Given the description of an element on the screen output the (x, y) to click on. 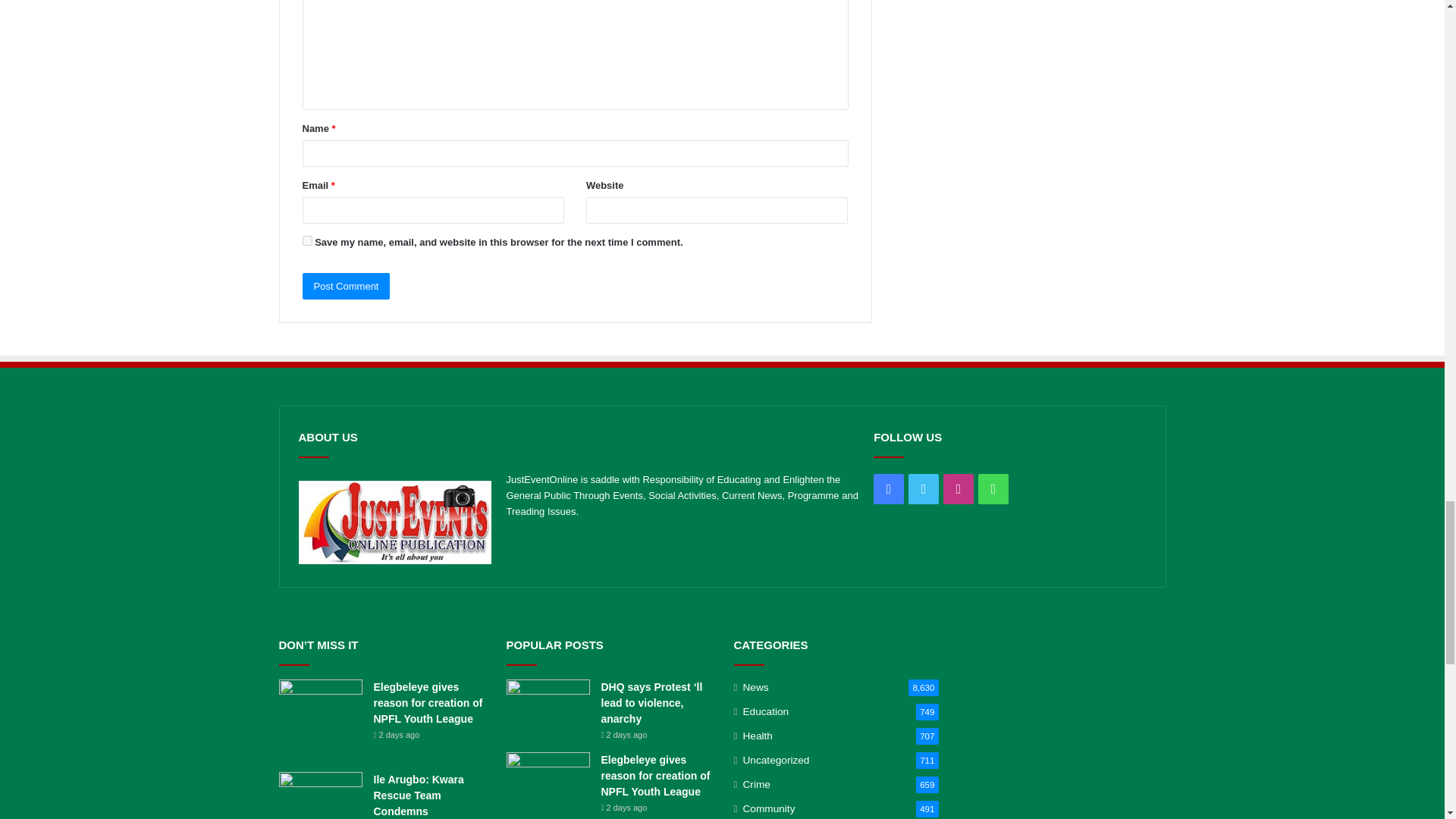
Post Comment (345, 285)
yes (306, 240)
